Given the description of an element on the screen output the (x, y) to click on. 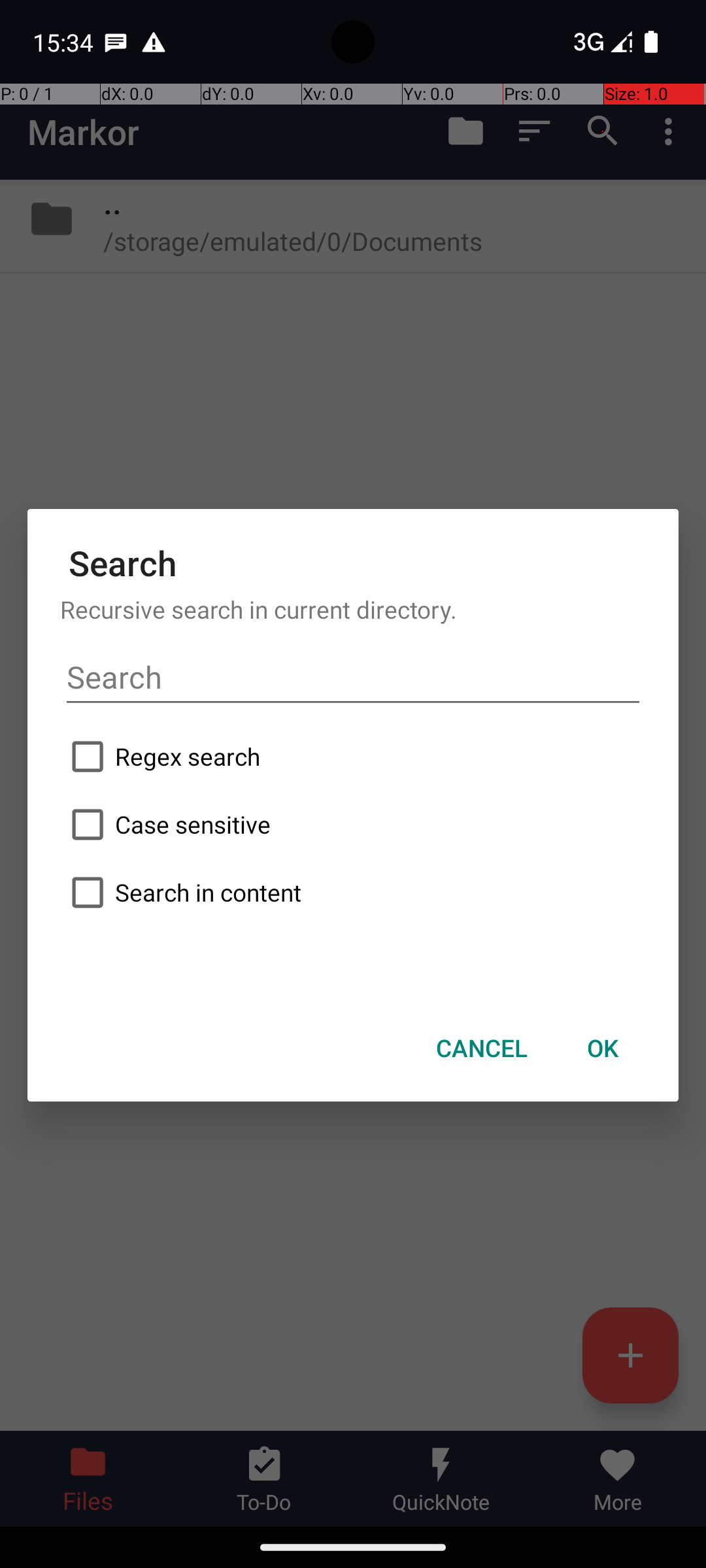
Recursive search in current directory. Element type: android.widget.TextView (352, 608)
Regex search Element type: android.widget.CheckBox (352, 756)
Case sensitive Element type: android.widget.CheckBox (352, 824)
Search in content Element type: android.widget.CheckBox (352, 892)
